Given the description of an element on the screen output the (x, y) to click on. 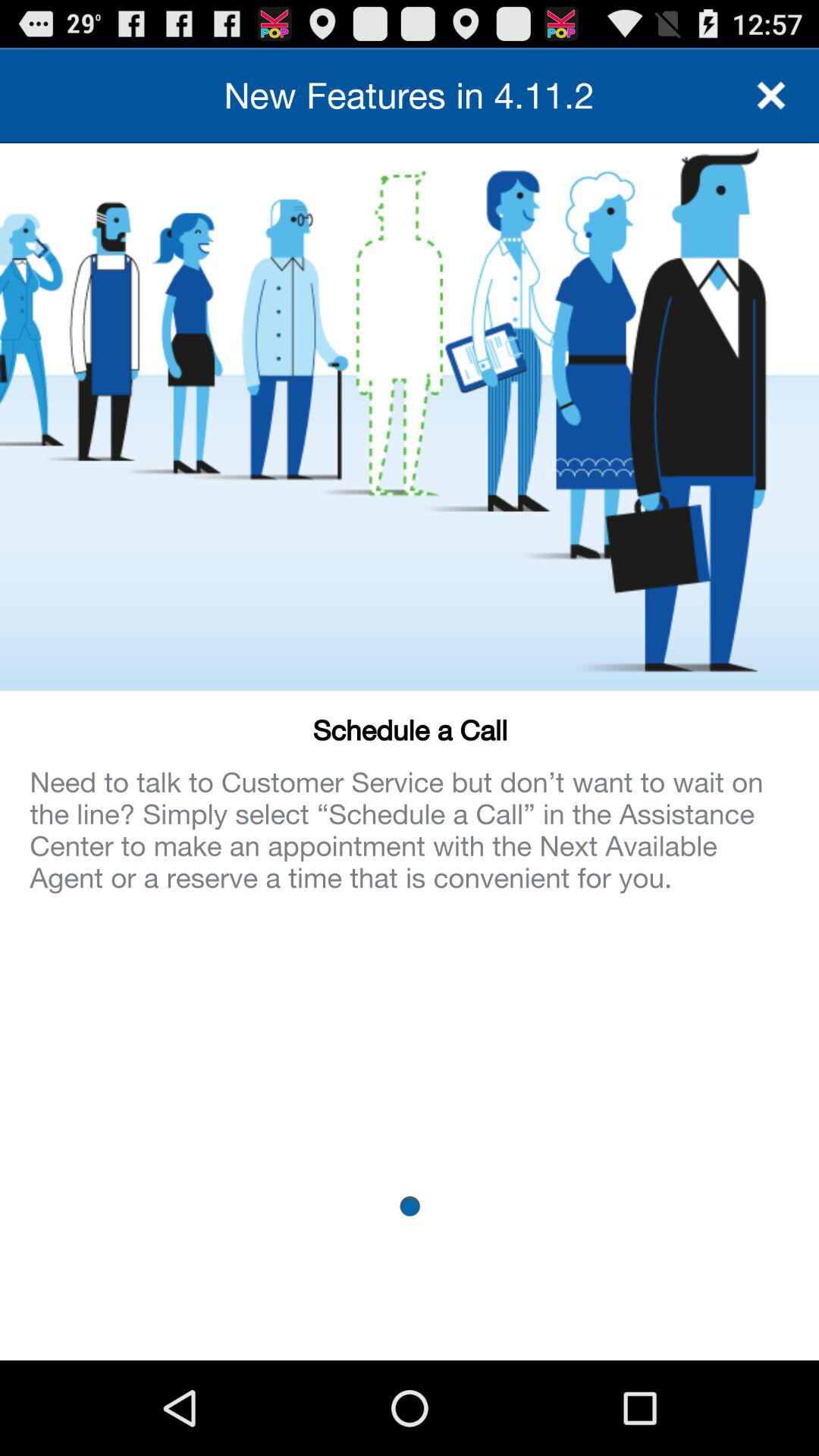
exit (771, 95)
